Given the description of an element on the screen output the (x, y) to click on. 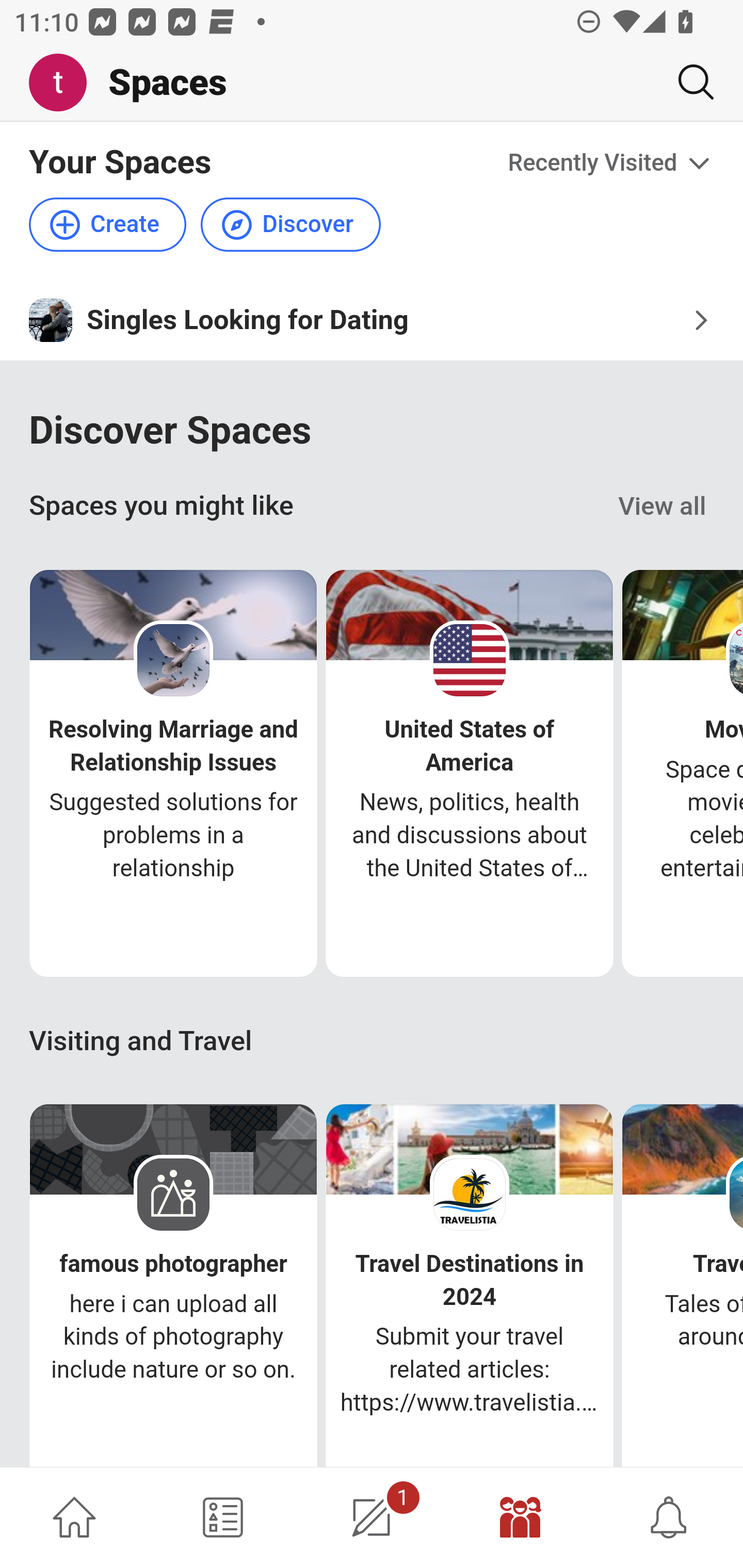
Me (64, 83)
Search (688, 82)
Recently Visited (610, 162)
Create (107, 224)
Discover (289, 224)
View all (662, 506)
Resolving Marriage and Relationship Issues (172, 745)
United States of America (469, 745)
famous photographer (173, 1263)
Travel Destinations in 2024 (469, 1279)
1 (371, 1517)
